Given the description of an element on the screen output the (x, y) to click on. 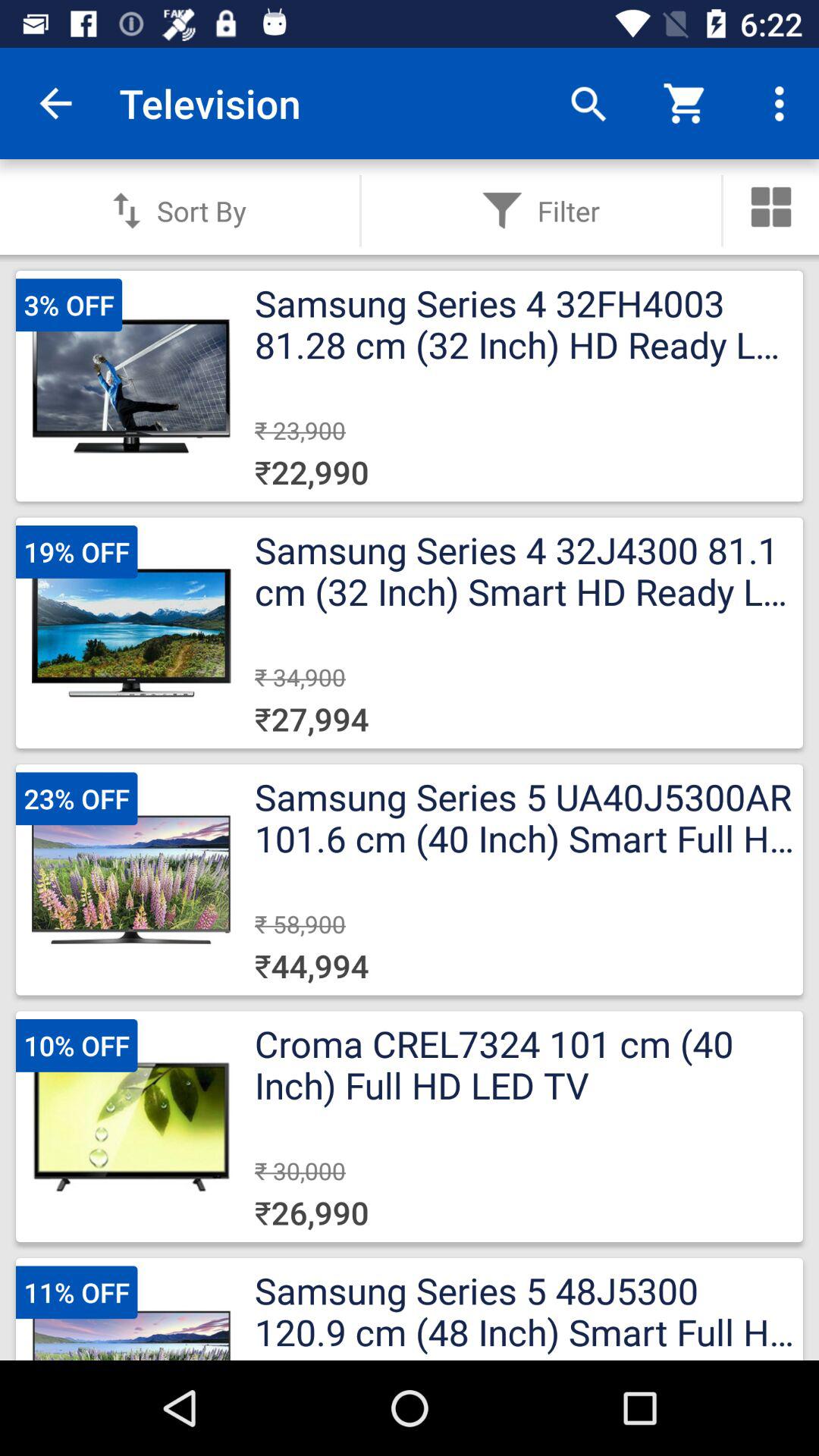
open item above filter icon (587, 103)
